Given the description of an element on the screen output the (x, y) to click on. 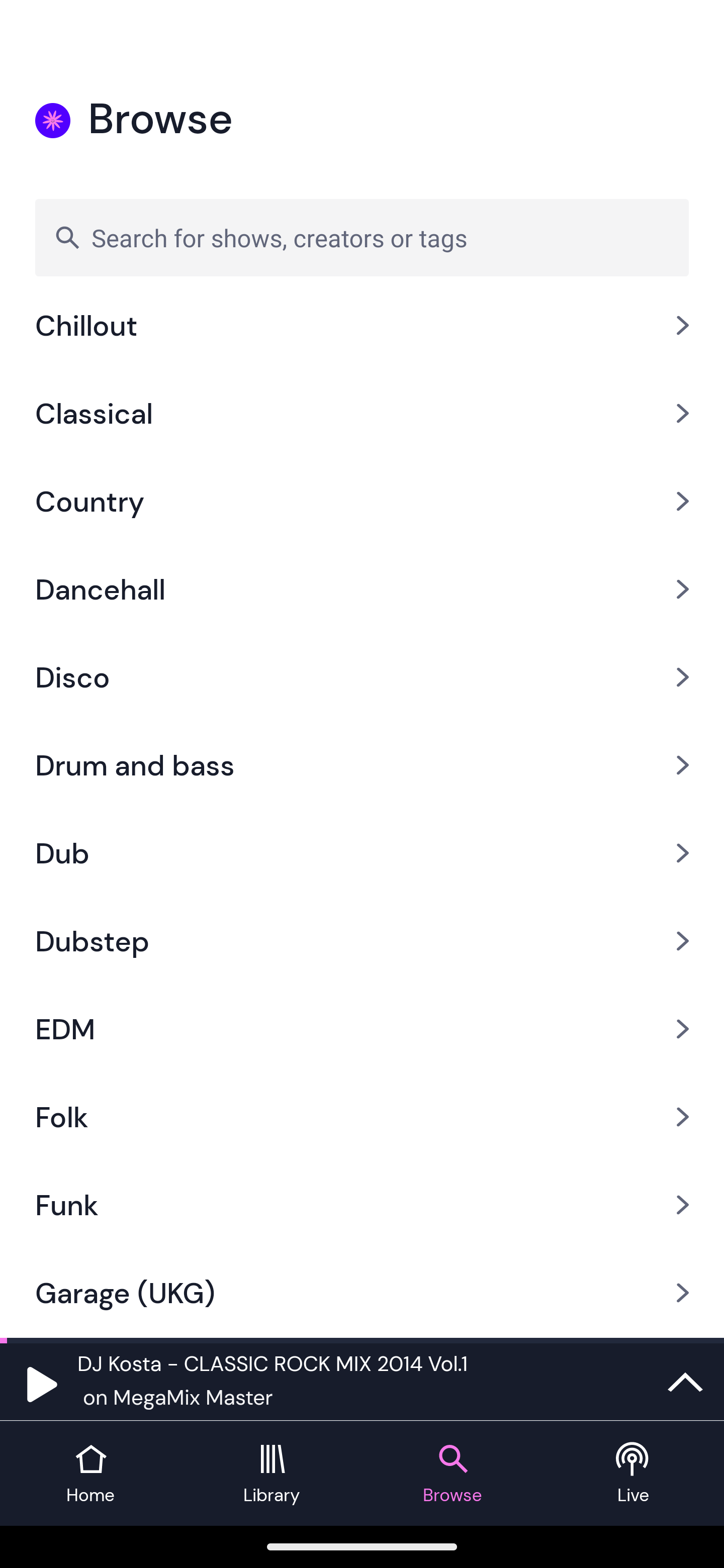
Search for shows, creators or tags (361, 237)
Chillout (361, 336)
Classical (361, 413)
Country (361, 501)
Dancehall (361, 589)
Disco (361, 677)
Drum and bass (361, 765)
Dub (361, 852)
Dubstep (361, 940)
EDM (361, 1028)
Folk (361, 1116)
Funk (361, 1204)
Garage (UKG) (361, 1292)
Home tab Home (90, 1473)
Library tab Library (271, 1473)
Browse tab Browse (452, 1473)
Live tab Live (633, 1473)
